Given the description of an element on the screen output the (x, y) to click on. 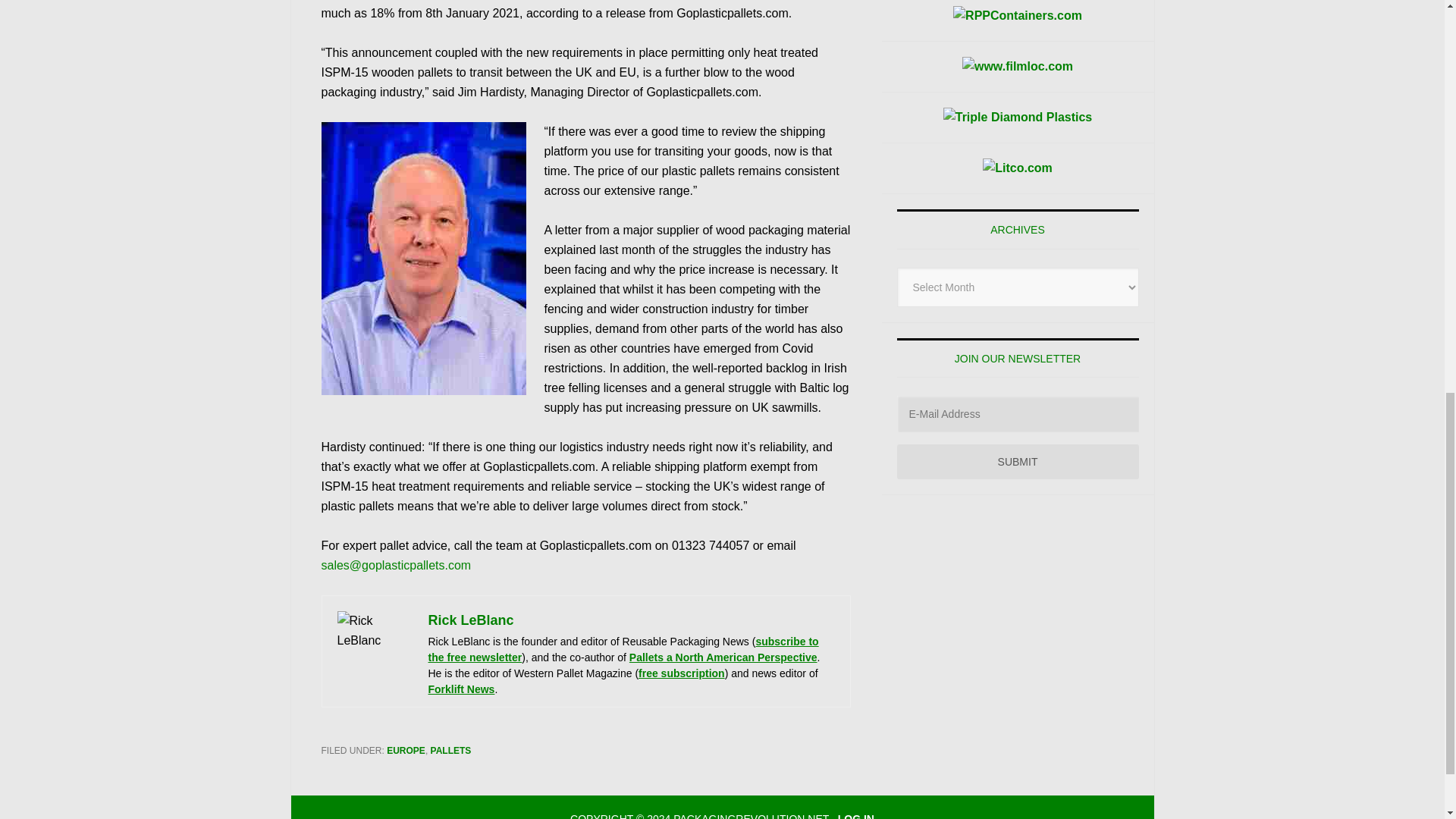
EUROPE (406, 750)
Forklift News (461, 689)
free subscription (682, 673)
Rick LeBlanc (470, 620)
PALLETS (450, 750)
subscribe to the free newsletter (623, 649)
SUBMIT (1017, 461)
Pallets a North American Perspective (722, 657)
RPPContainers.com (1017, 15)
